Given the description of an element on the screen output the (x, y) to click on. 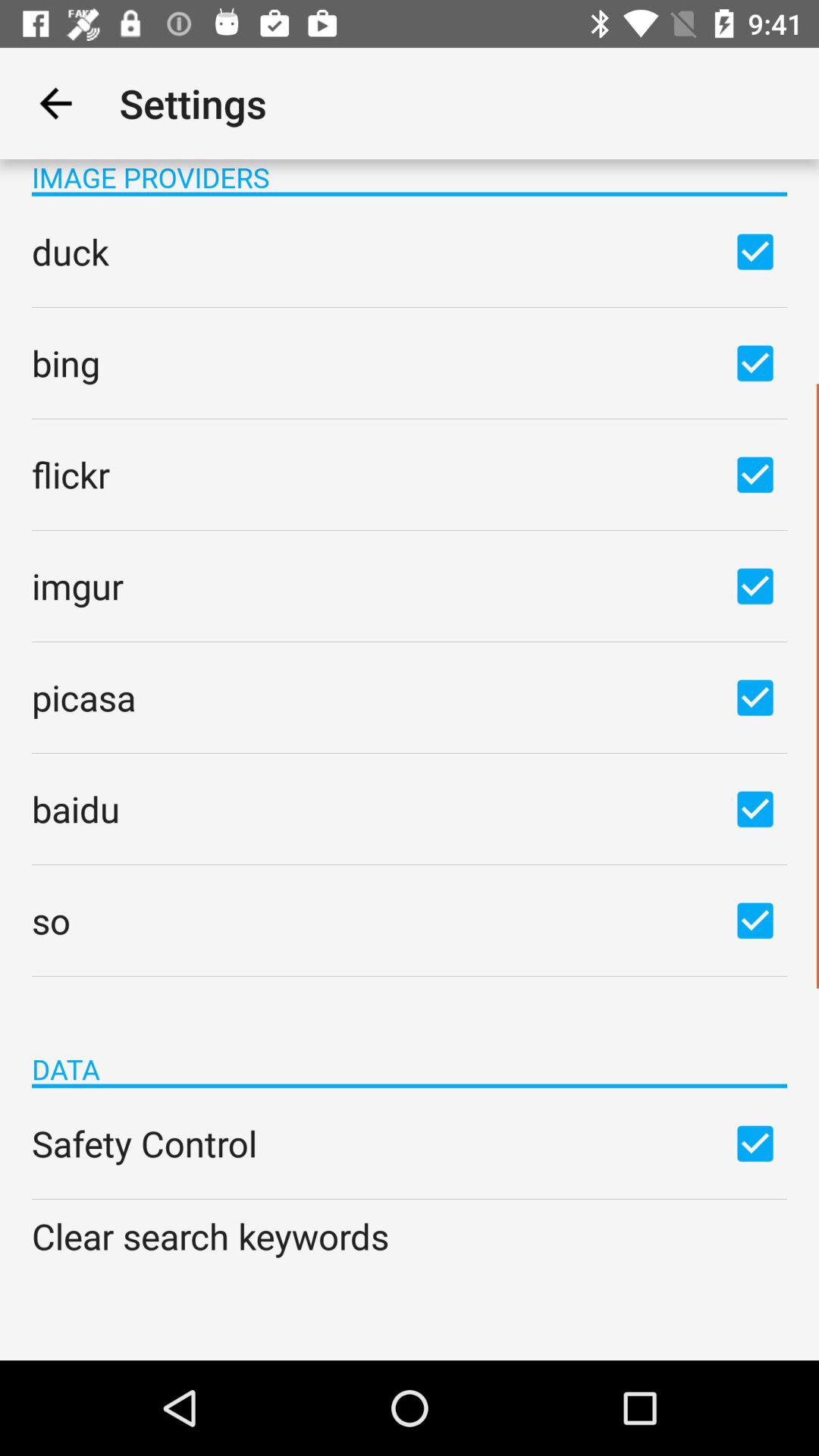
choose so (755, 920)
